Given the description of an element on the screen output the (x, y) to click on. 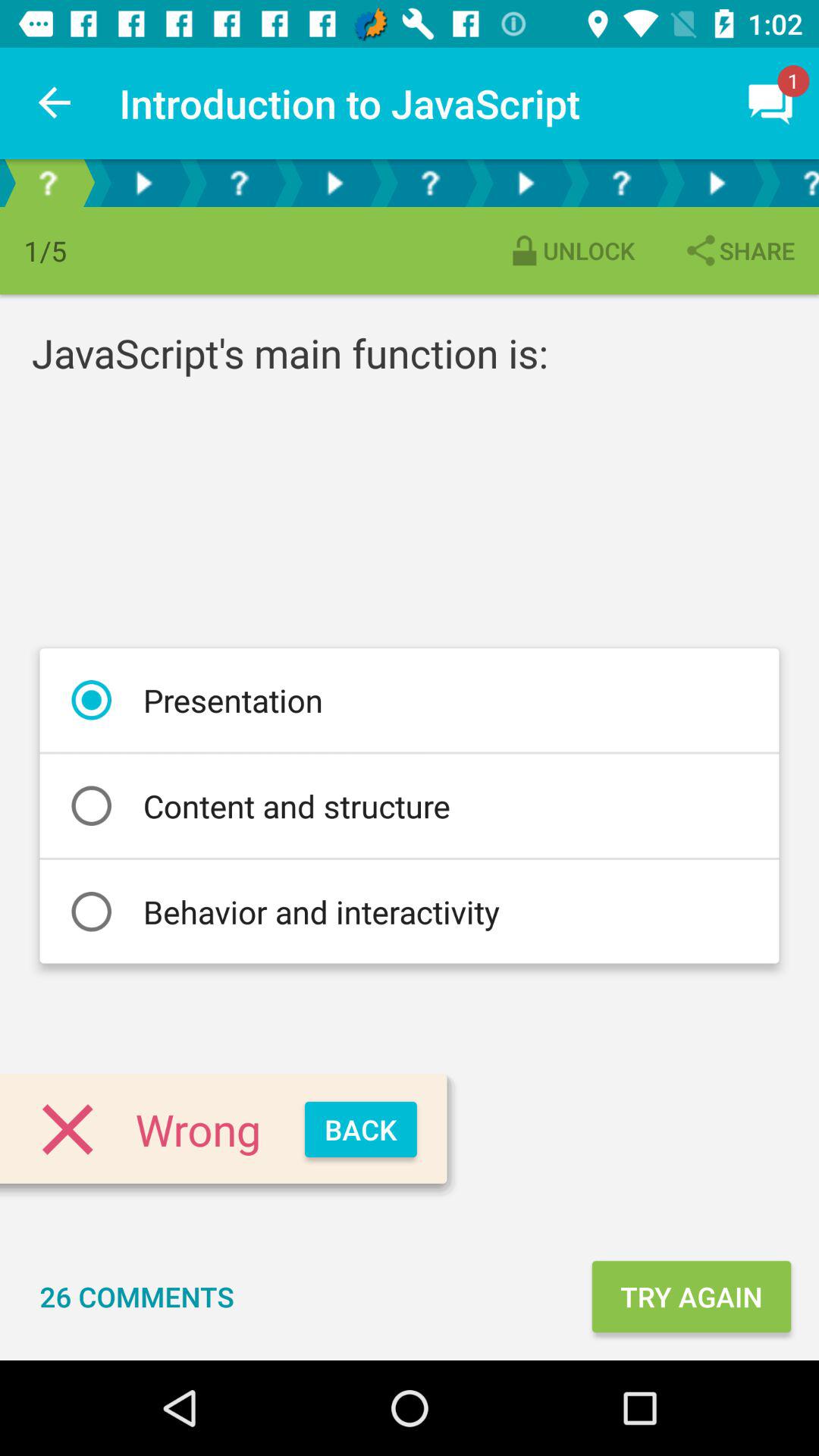
tap icon next to the try again icon (136, 1296)
